Given the description of an element on the screen output the (x, y) to click on. 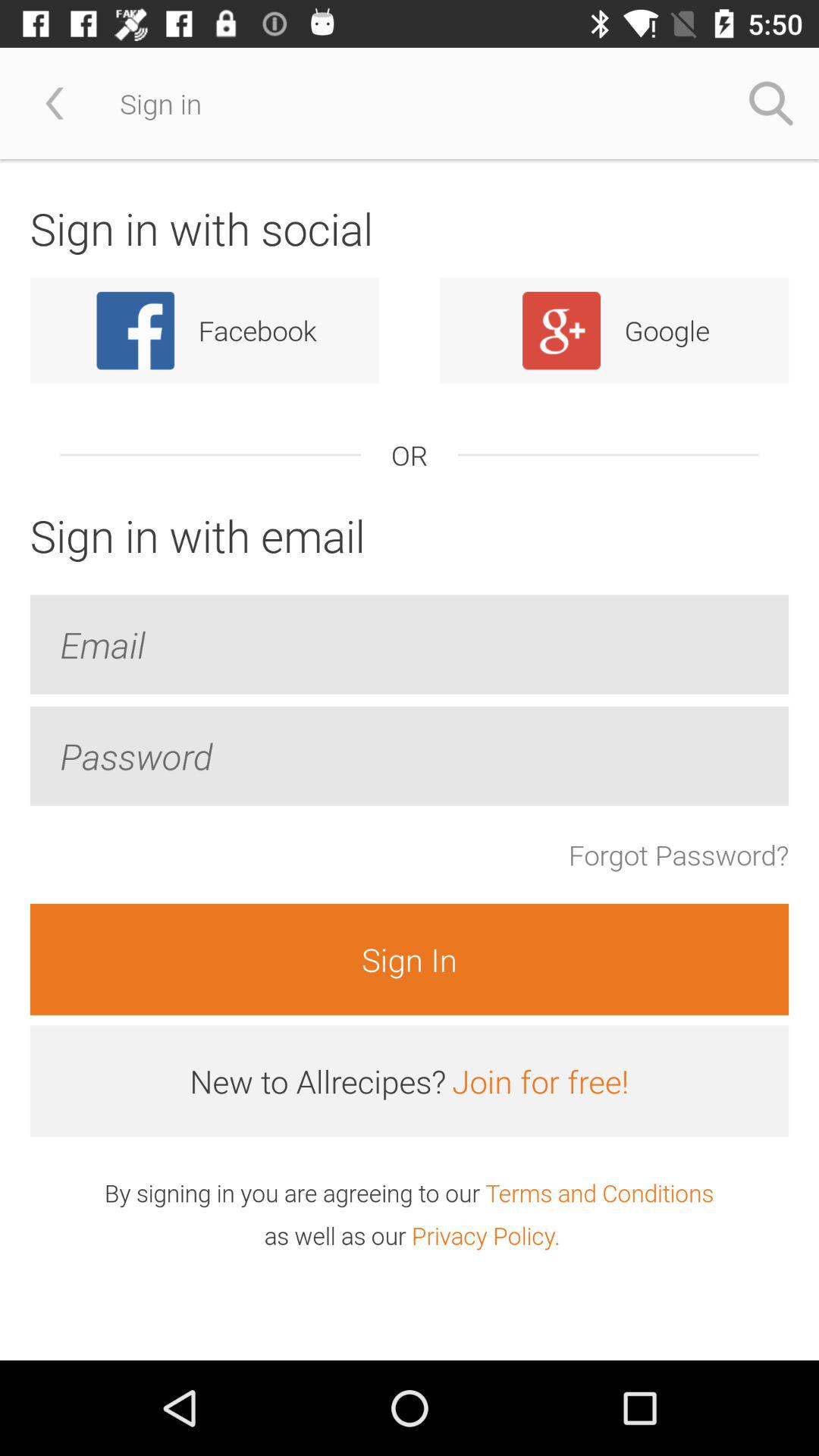
open icon on the right (678, 854)
